Given the description of an element on the screen output the (x, y) to click on. 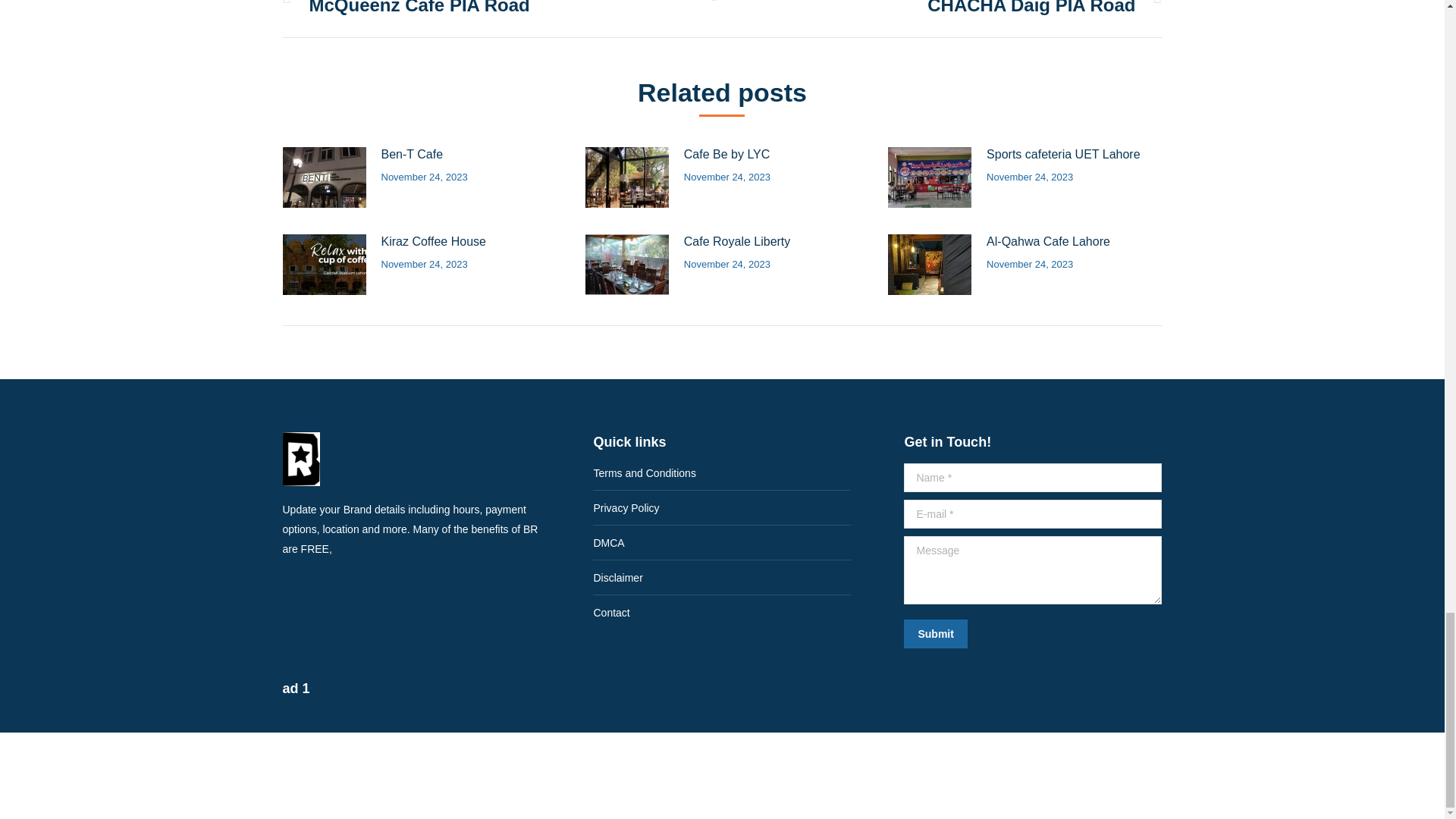
submit (1008, 635)
